Given the description of an element on the screen output the (x, y) to click on. 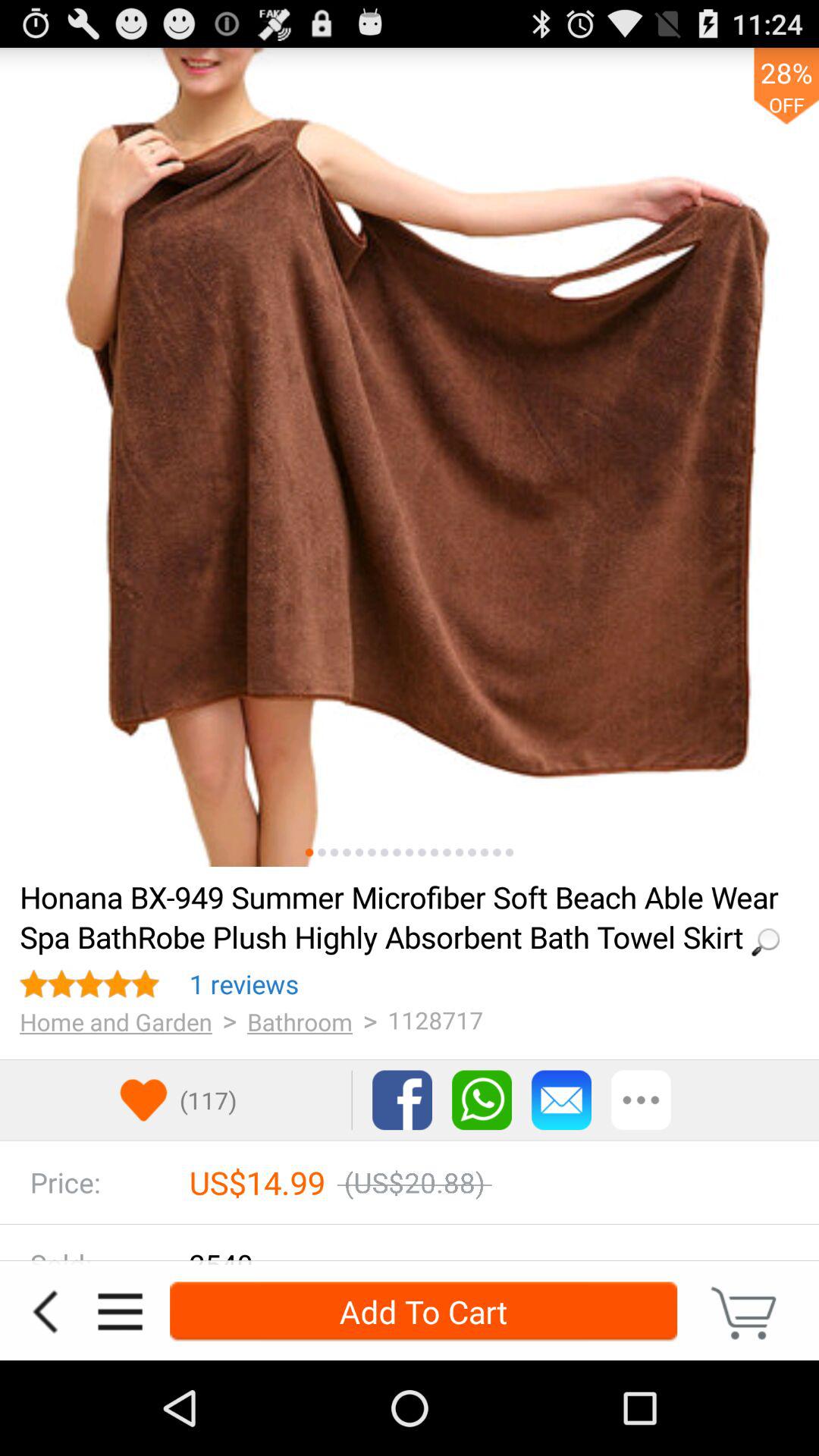
go to a specific image (447, 852)
